Given the description of an element on the screen output the (x, y) to click on. 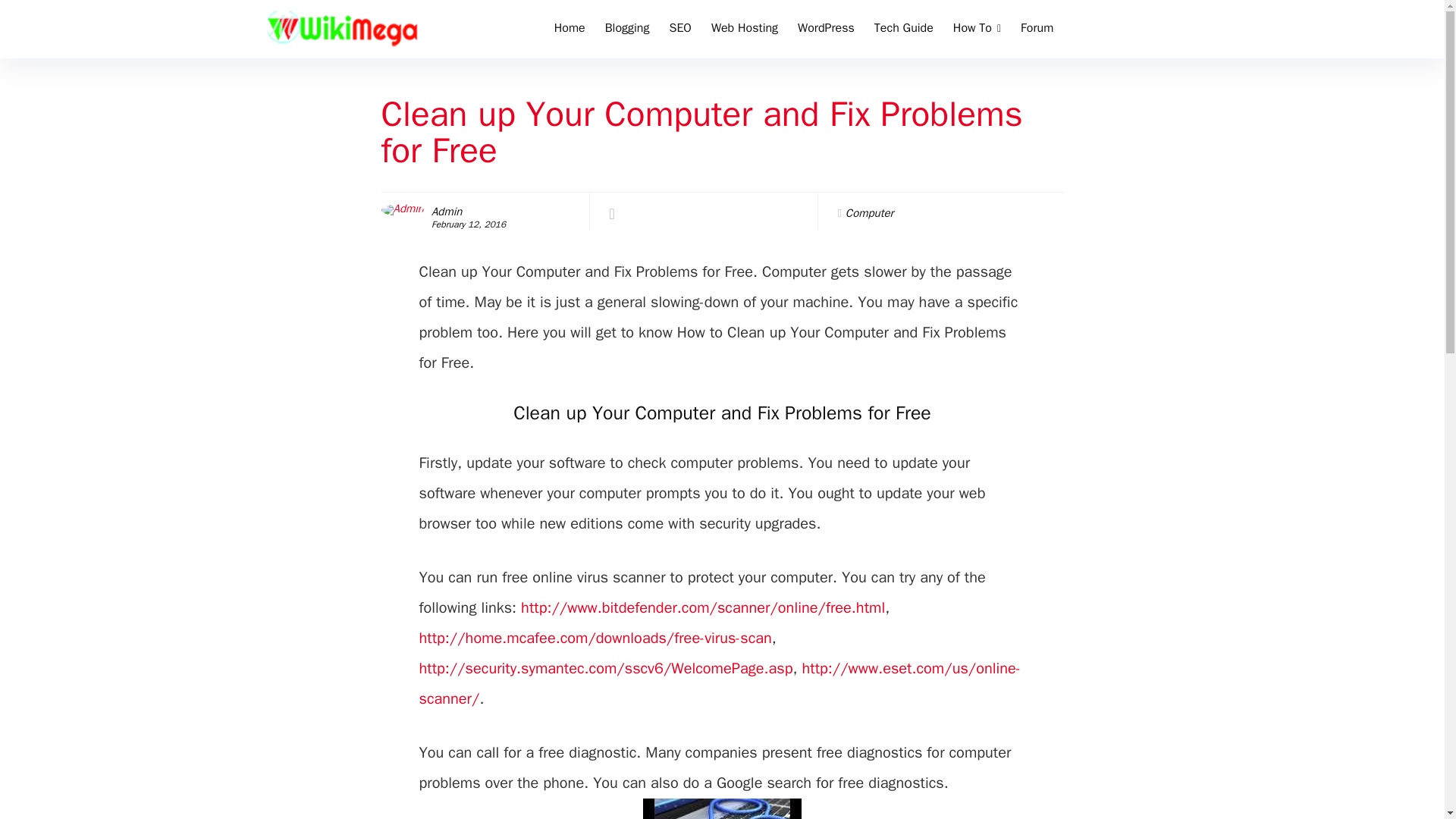
Admin (445, 211)
View all posts in Computer (869, 213)
How To (976, 29)
Computer (869, 213)
Blogging (627, 29)
SEO (679, 29)
Home (569, 29)
WordPress (825, 29)
Forum (1036, 29)
Web Hosting (744, 29)
Tech Guide (903, 29)
